Given the description of an element on the screen output the (x, y) to click on. 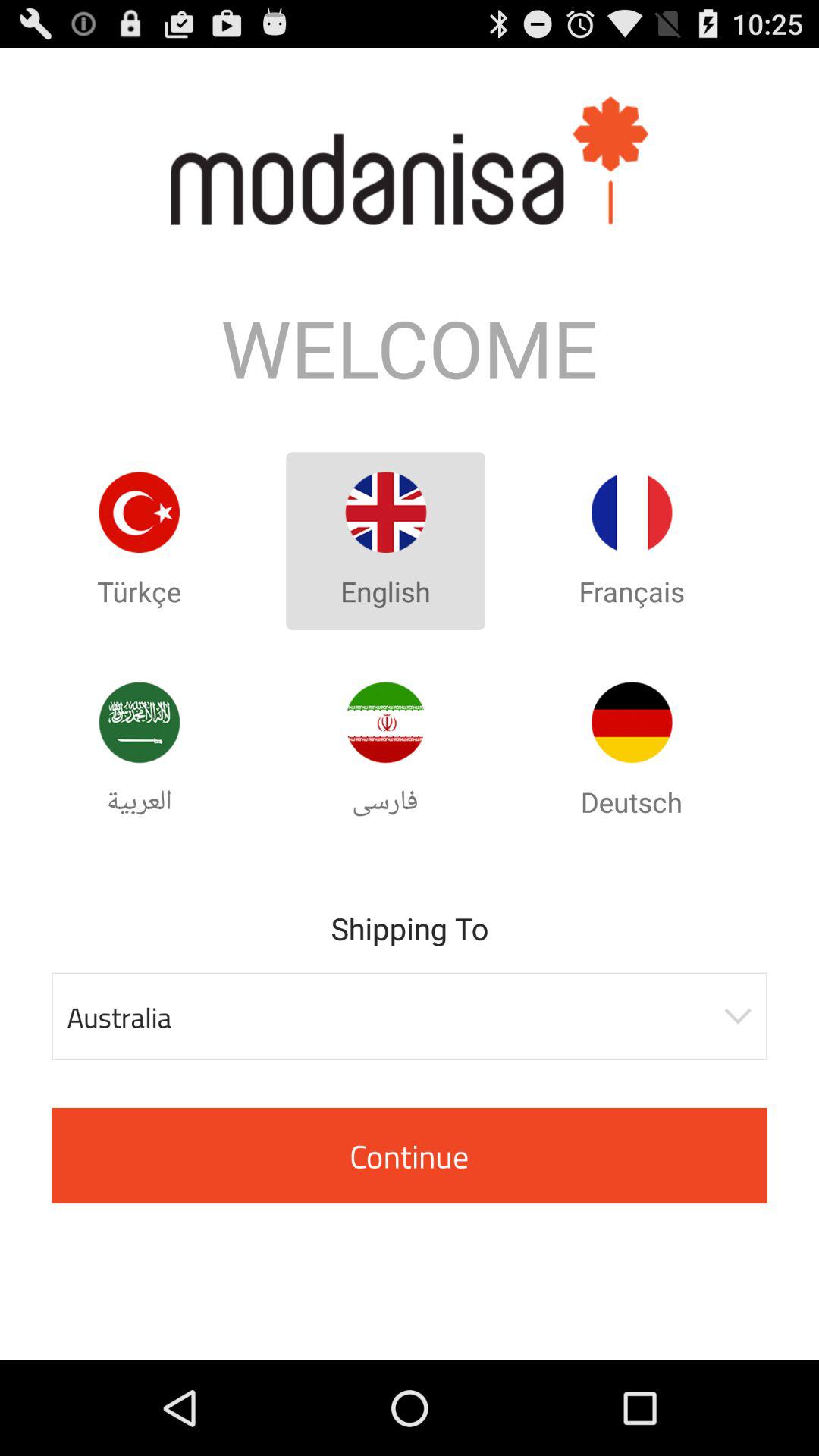
select english language (385, 512)
